Given the description of an element on the screen output the (x, y) to click on. 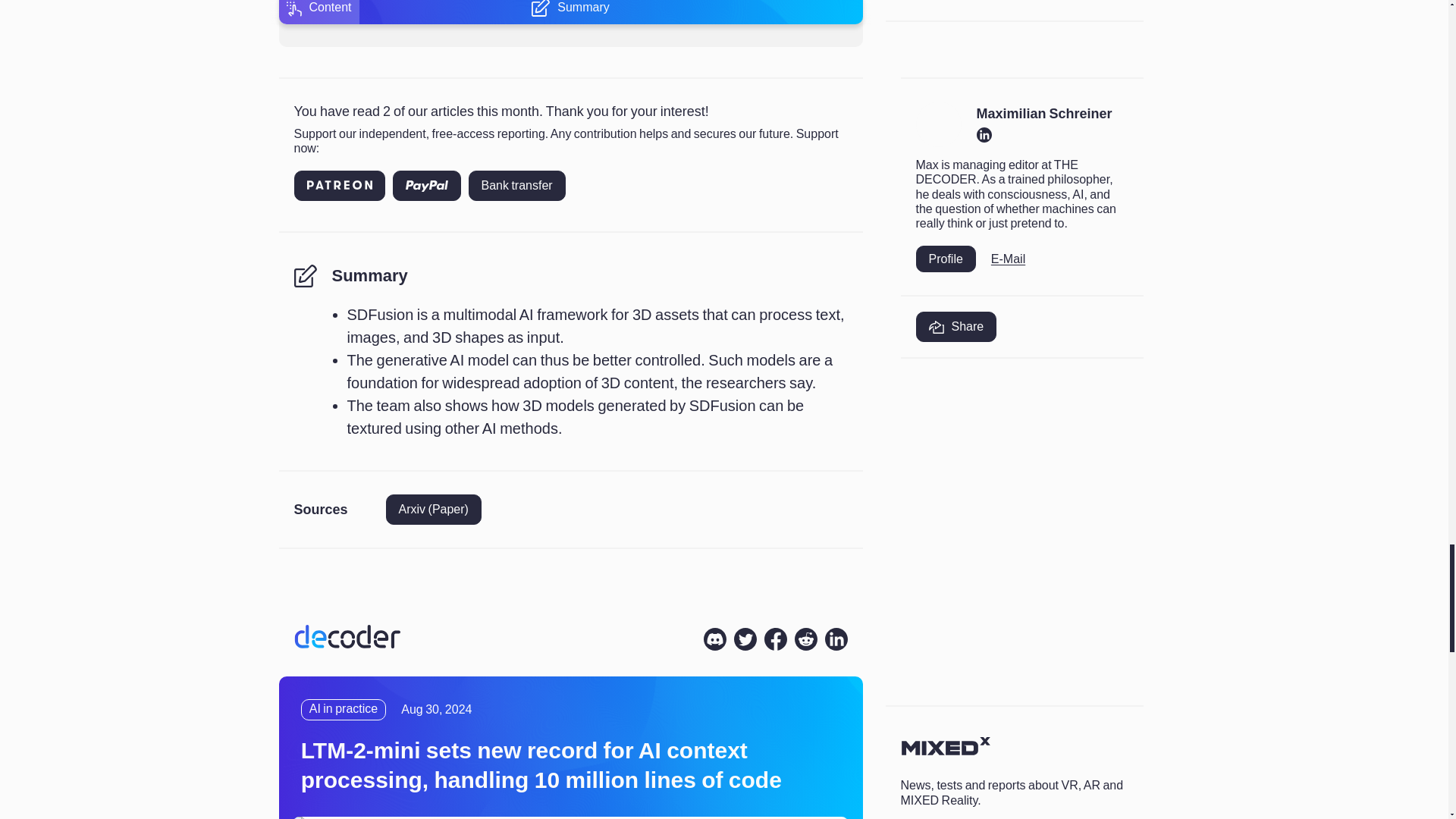
Facebook (775, 639)
Reddit (805, 639)
Discord (714, 639)
Twitter (745, 639)
Email (1008, 258)
